Given the description of an element on the screen output the (x, y) to click on. 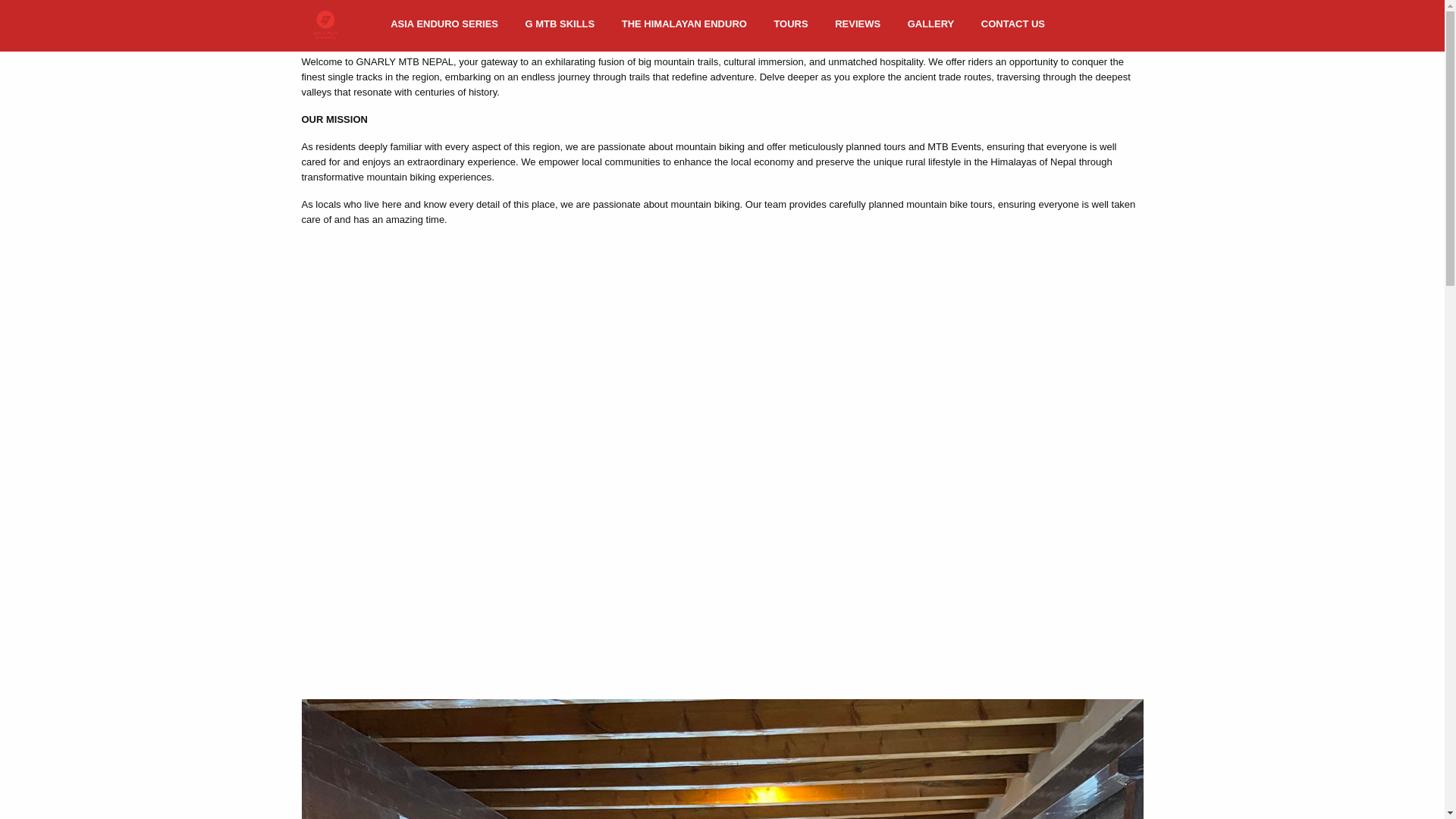
CONTACT US (1013, 25)
GALLERY (930, 25)
THE HIMALAYAN ENDURO (683, 25)
ASIA ENDURO SERIES (443, 25)
REVIEWS (857, 25)
G MTB SKILLS (560, 25)
TOURS (790, 25)
